Given the description of an element on the screen output the (x, y) to click on. 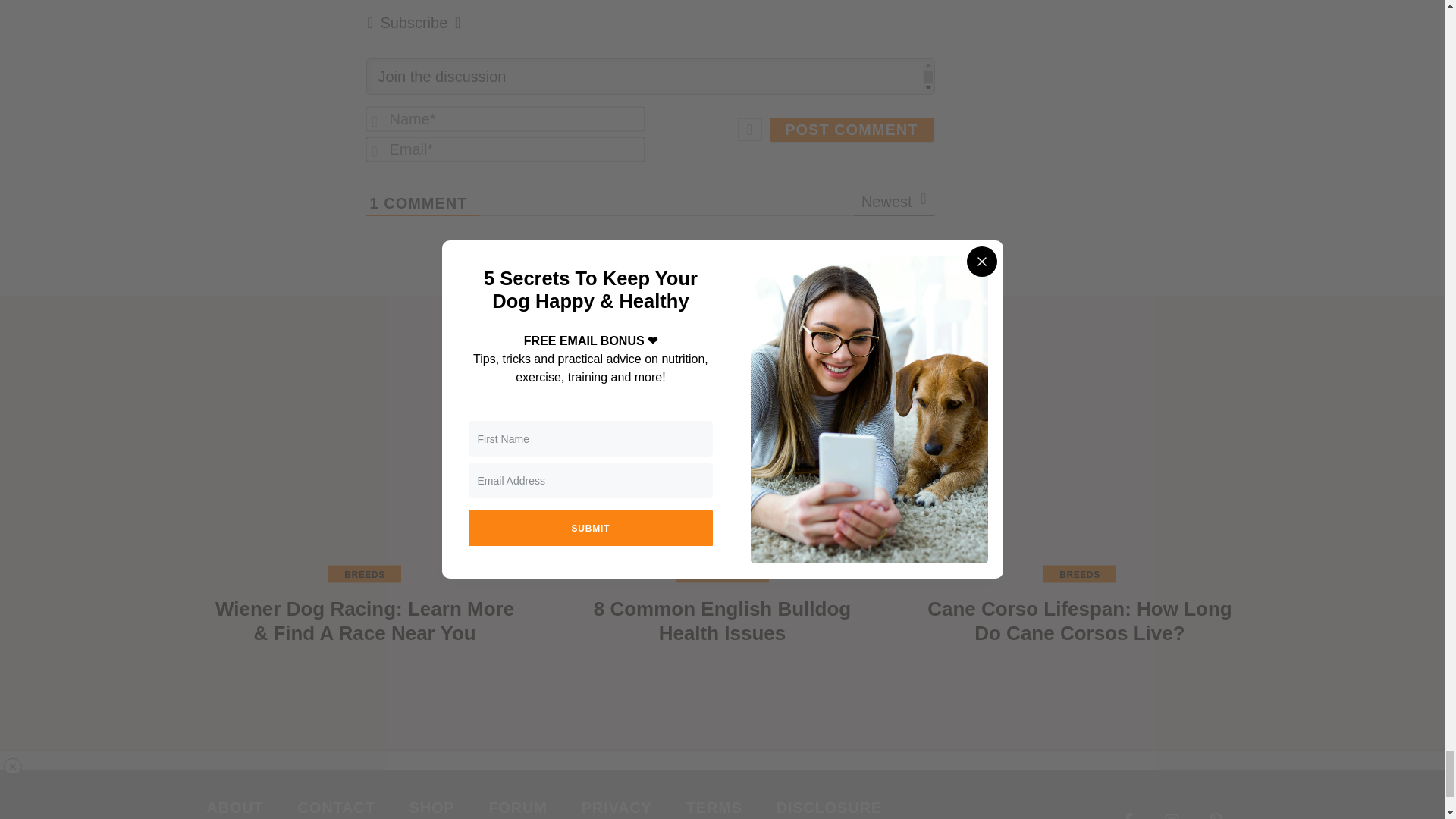
Post Comment (851, 129)
